Given the description of an element on the screen output the (x, y) to click on. 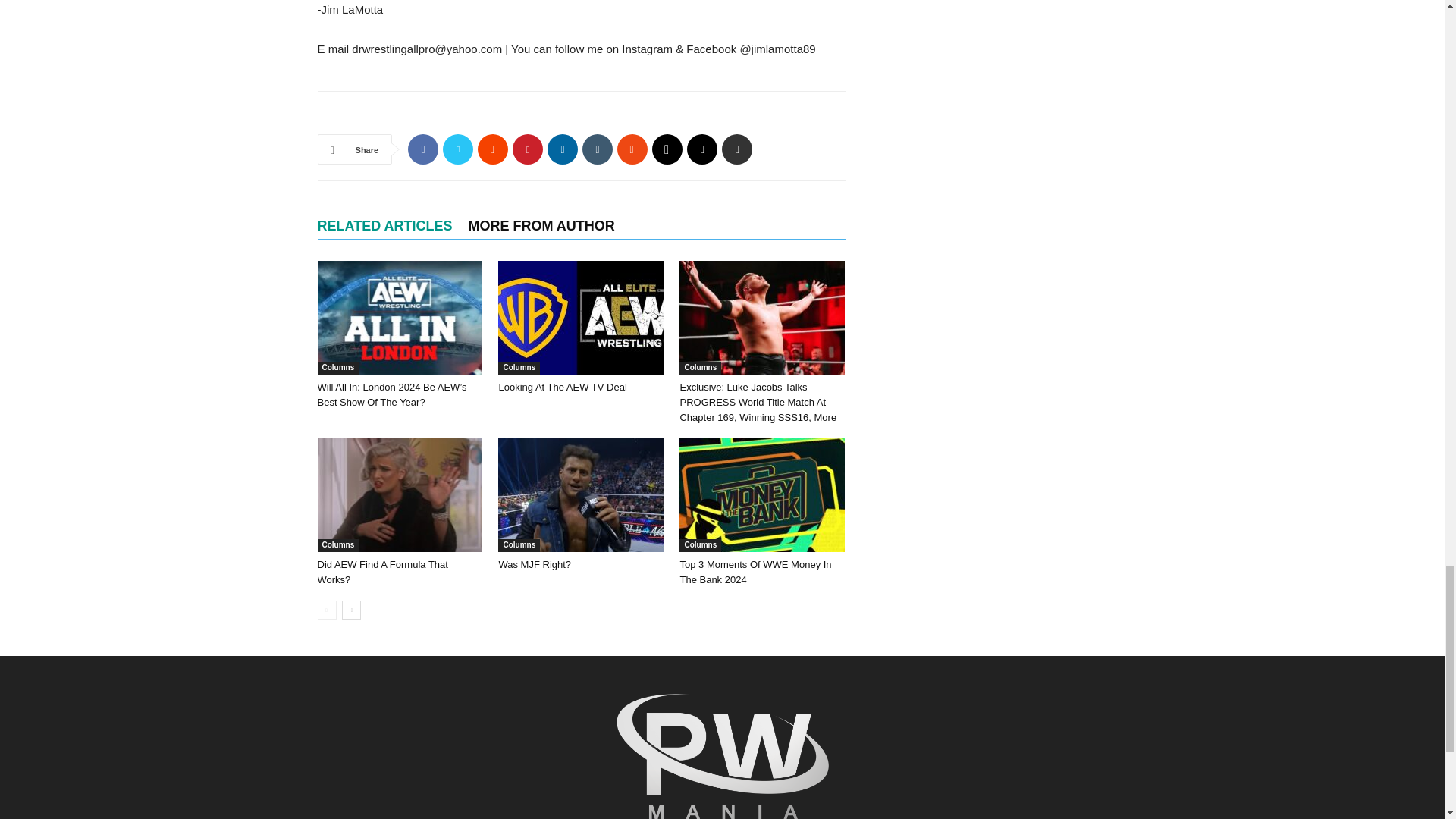
Twitter (457, 149)
Pinterest (527, 149)
bottomFacebookLike (430, 115)
ReddIt (492, 149)
Linkedin (562, 149)
Facebook (422, 149)
